Given the description of an element on the screen output the (x, y) to click on. 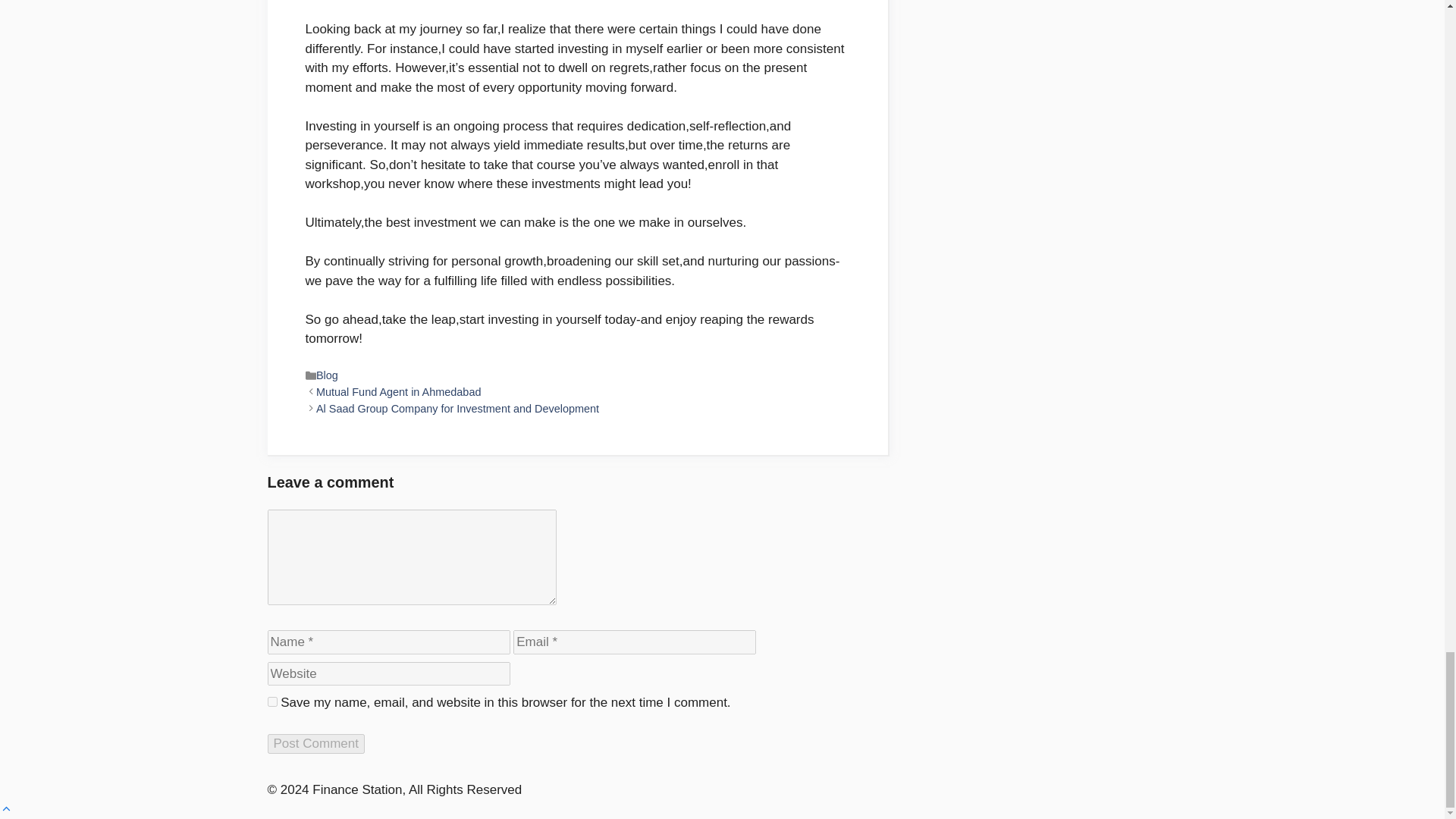
yes (271, 701)
Mutual Fund Agent in Ahmedabad (398, 391)
Scroll back to top (6, 809)
Al Saad Group Company for Investment and Development (456, 408)
Post Comment (315, 743)
Post Comment (315, 743)
Blog (326, 375)
